Given the description of an element on the screen output the (x, y) to click on. 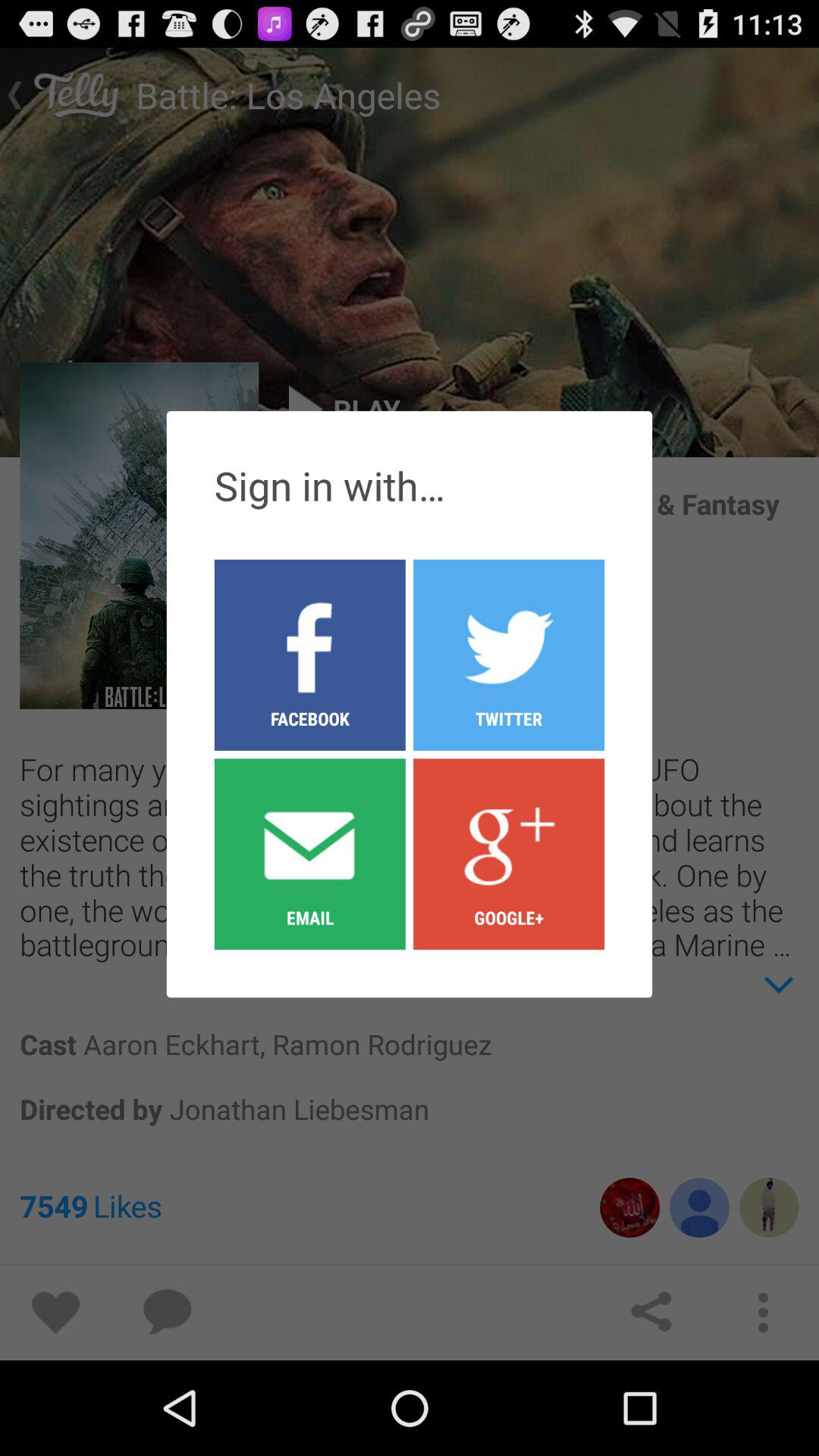
open the twitter button (508, 654)
